Given the description of an element on the screen output the (x, y) to click on. 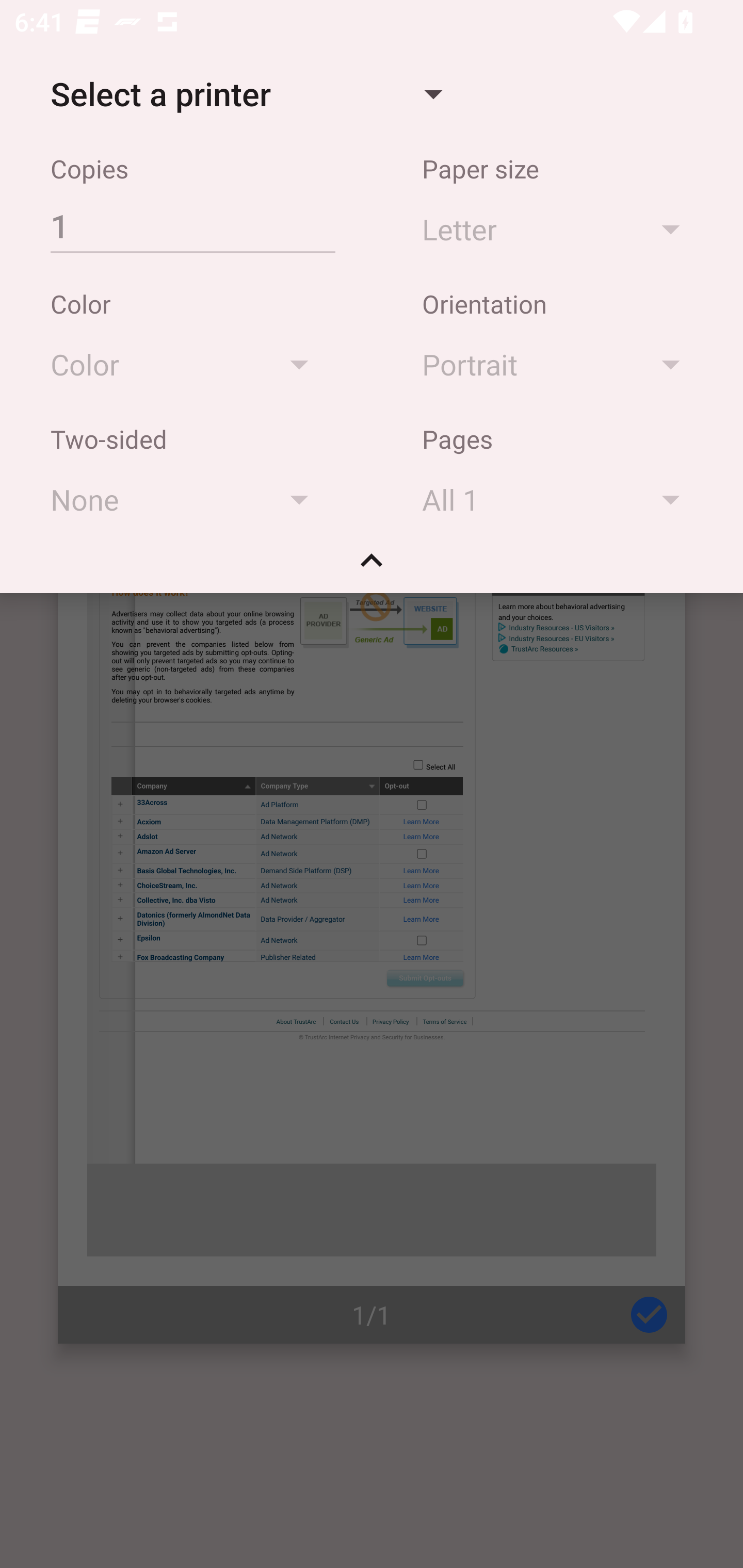
Select a printer (245, 93)
1 (192, 225)
Letter (560, 228)
Color (189, 364)
Portrait (560, 364)
None (189, 499)
All 1 (560, 499)
Collapse handle (371, 567)
